Given the description of an element on the screen output the (x, y) to click on. 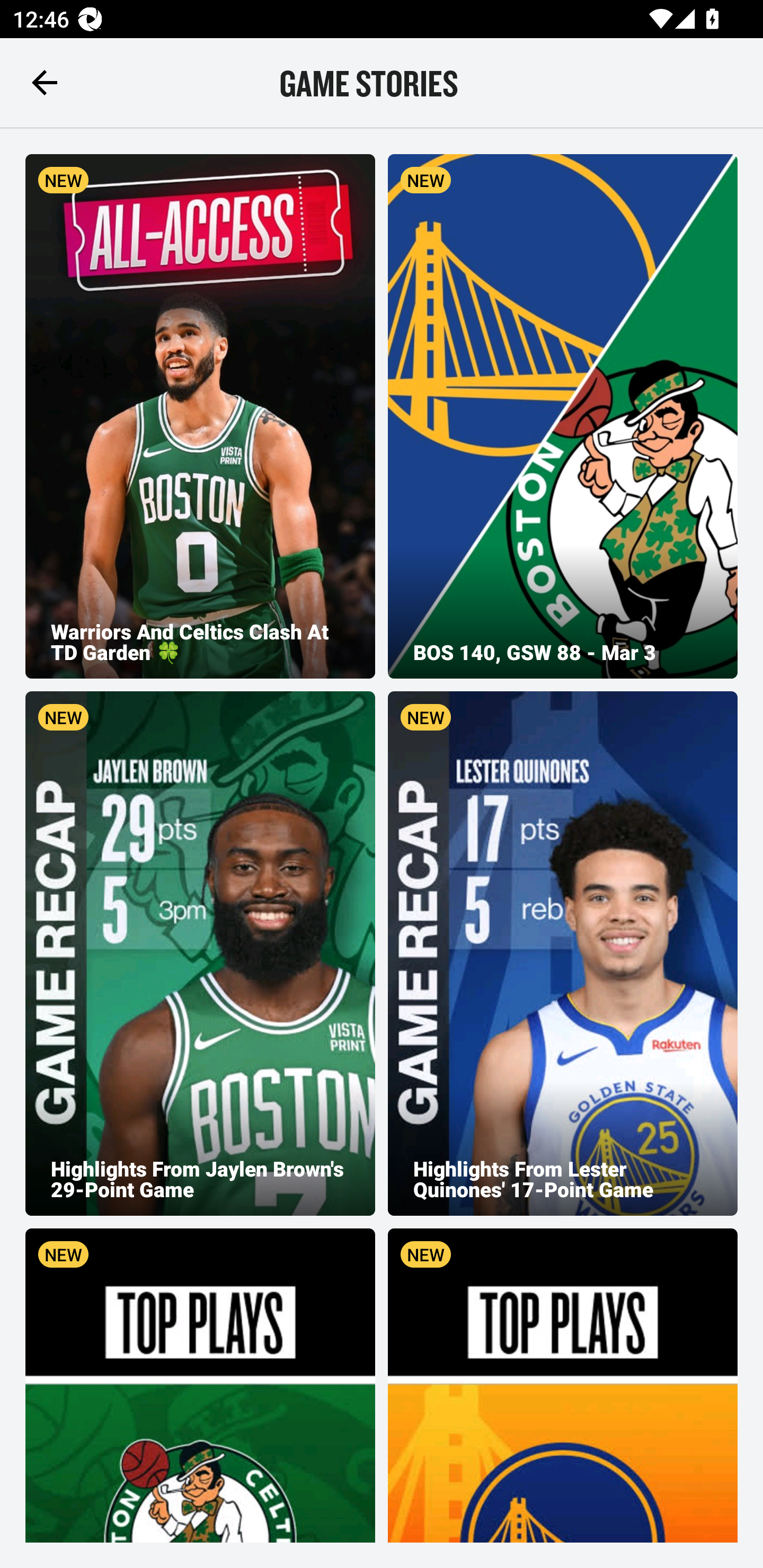
Navigate up (44, 82)
NEW Warriors And Celtics Clash At TD Garden 🍀 (200, 415)
NEW BOS 140, GSW 88 - Mar 3 (562, 415)
NEW Highlights From Jaylen Brown's 29-Point Game (200, 953)
NEW Highlights From Lester Quinones' 17-Point Game (562, 953)
NEW (200, 1384)
NEW (562, 1384)
